Given the description of an element on the screen output the (x, y) to click on. 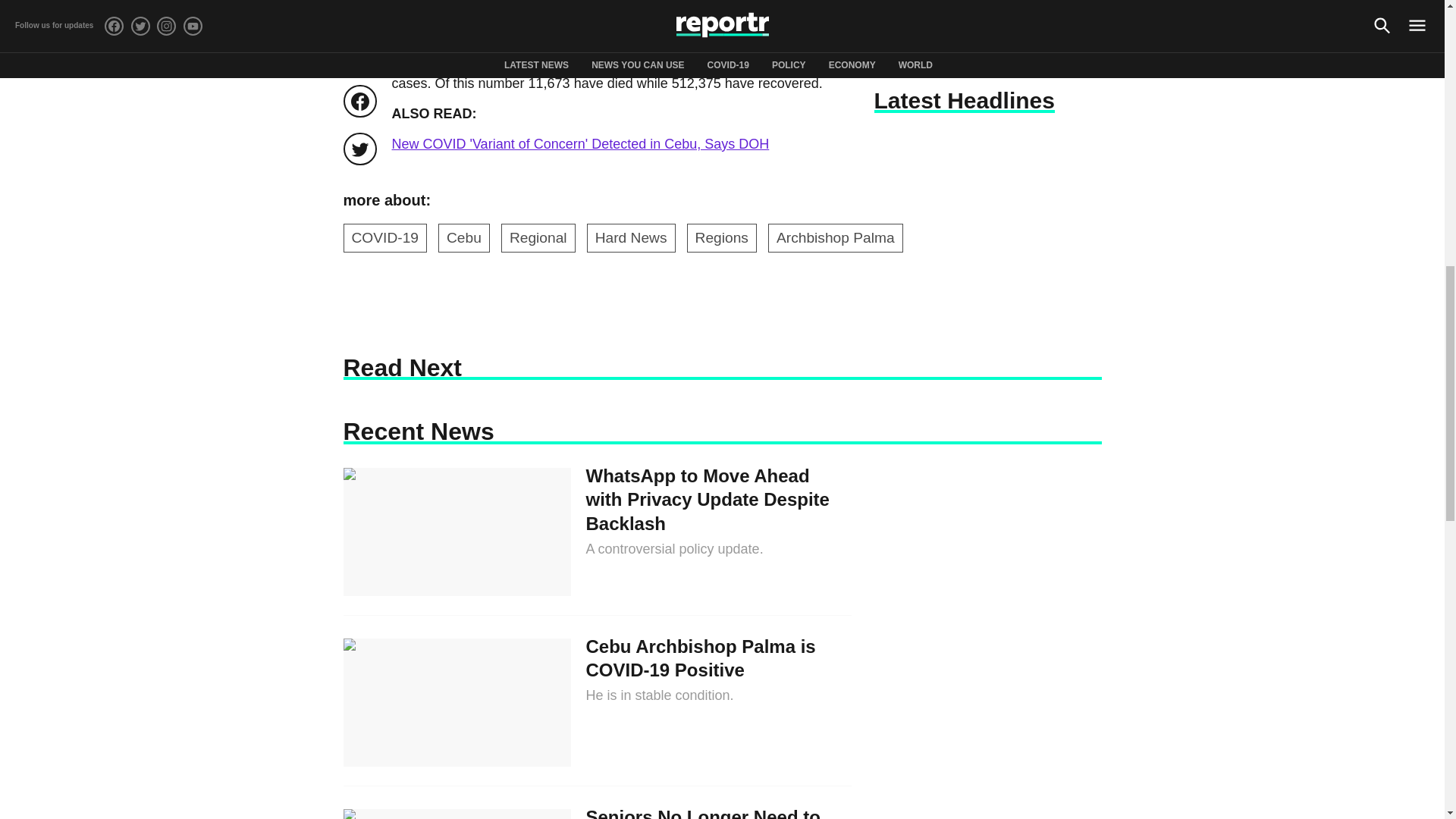
Cebu (463, 237)
Hard News (630, 237)
COVID-19 (384, 237)
New COVID 'Variant of Concern' Detected in Cebu, Says DOH (579, 143)
Regional (537, 237)
